Given the description of an element on the screen output the (x, y) to click on. 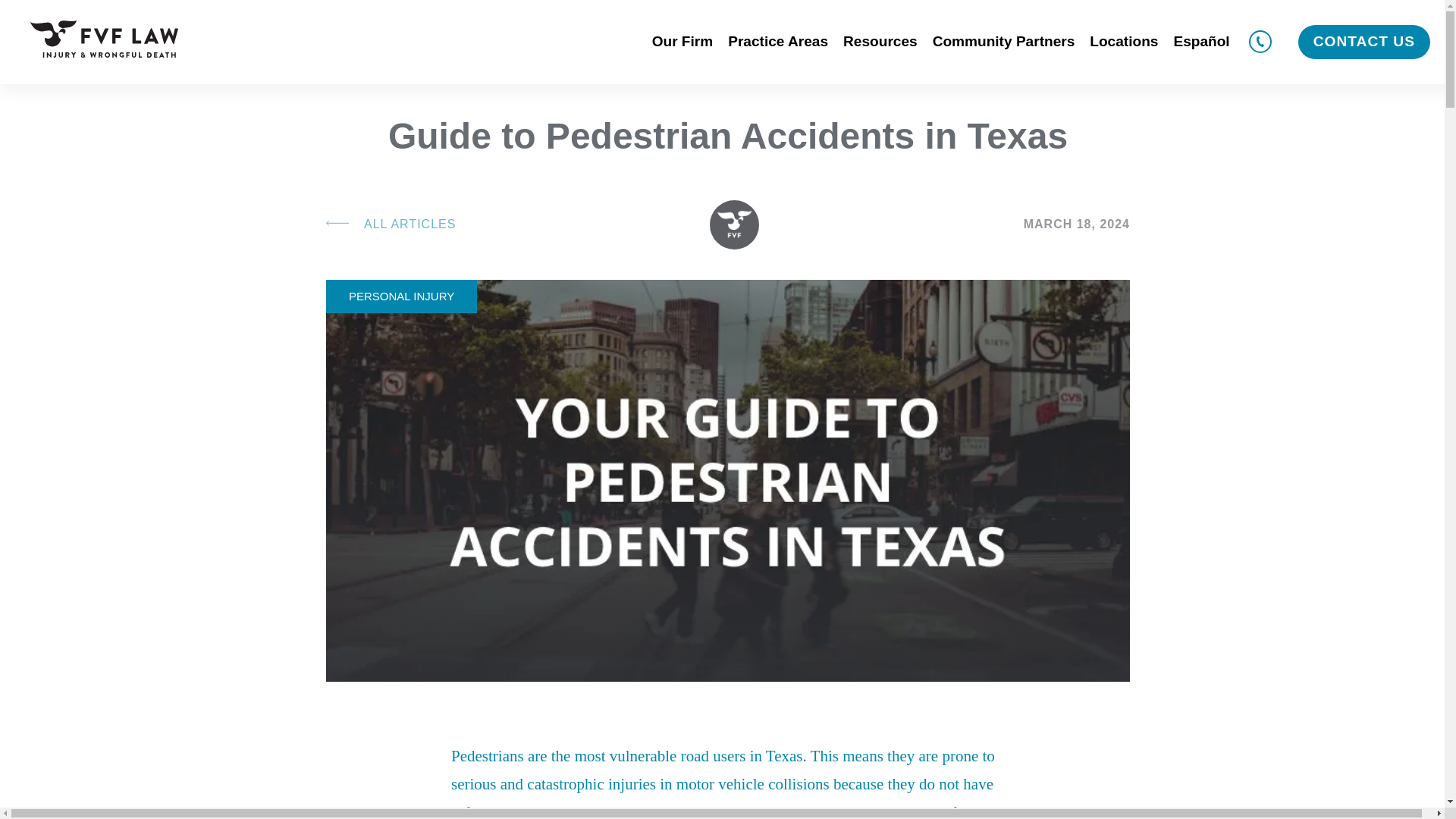
Resources (879, 42)
Community Partners (1003, 42)
ALL ARTICLES (390, 224)
Locations (1123, 42)
Practice Areas (777, 42)
CONTACT US (1363, 41)
Our Firm (682, 42)
